Given the description of an element on the screen output the (x, y) to click on. 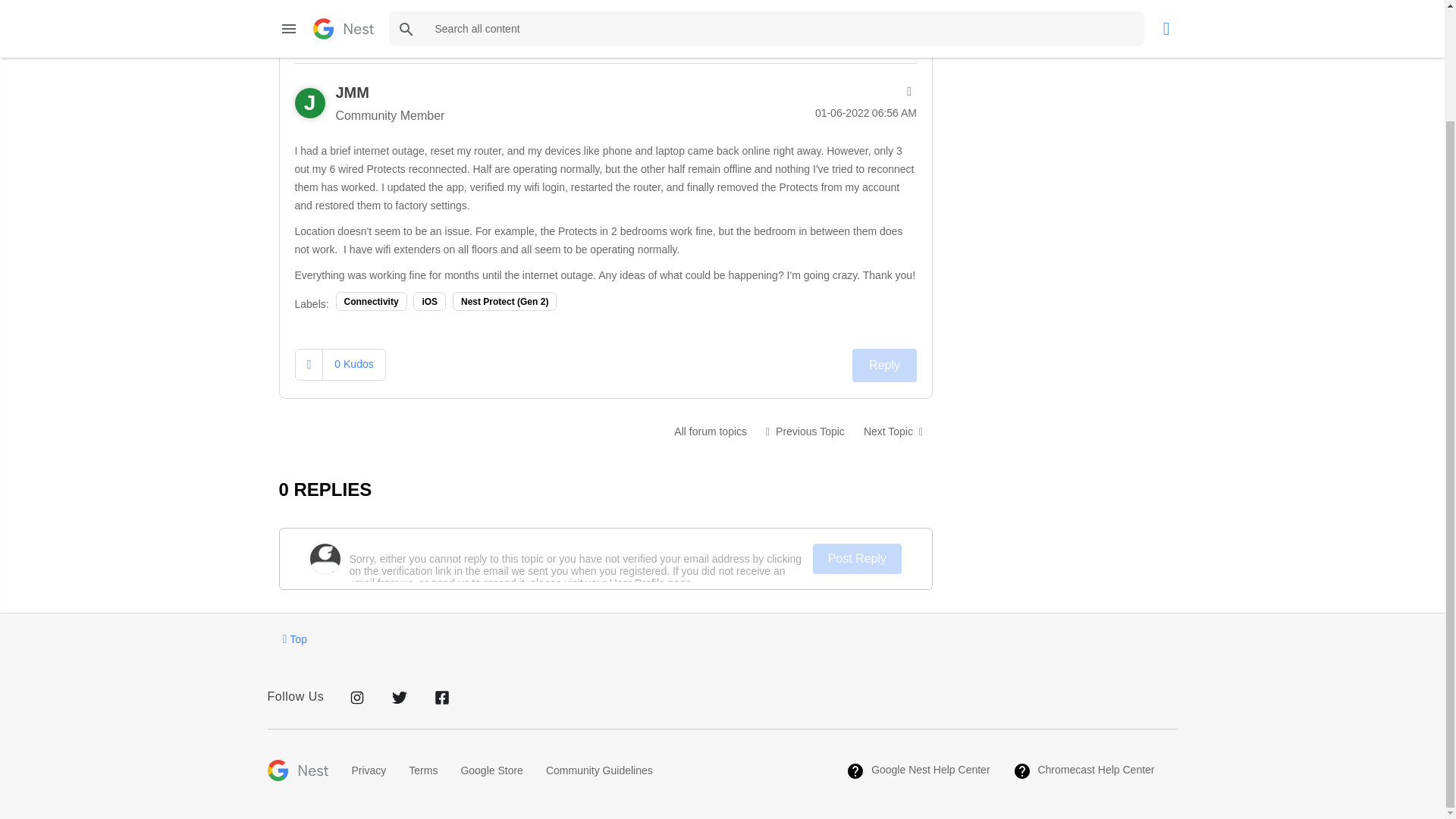
Top (293, 638)
Top (293, 638)
iOS (429, 301)
The total number of kudos this post has received. (353, 363)
Nest Smoke and CO Detectors (804, 430)
Click here to give kudos to this post. (309, 364)
Connectivity (371, 301)
Nest Protect (710, 430)
JMM (351, 92)
